Given the description of an element on the screen output the (x, y) to click on. 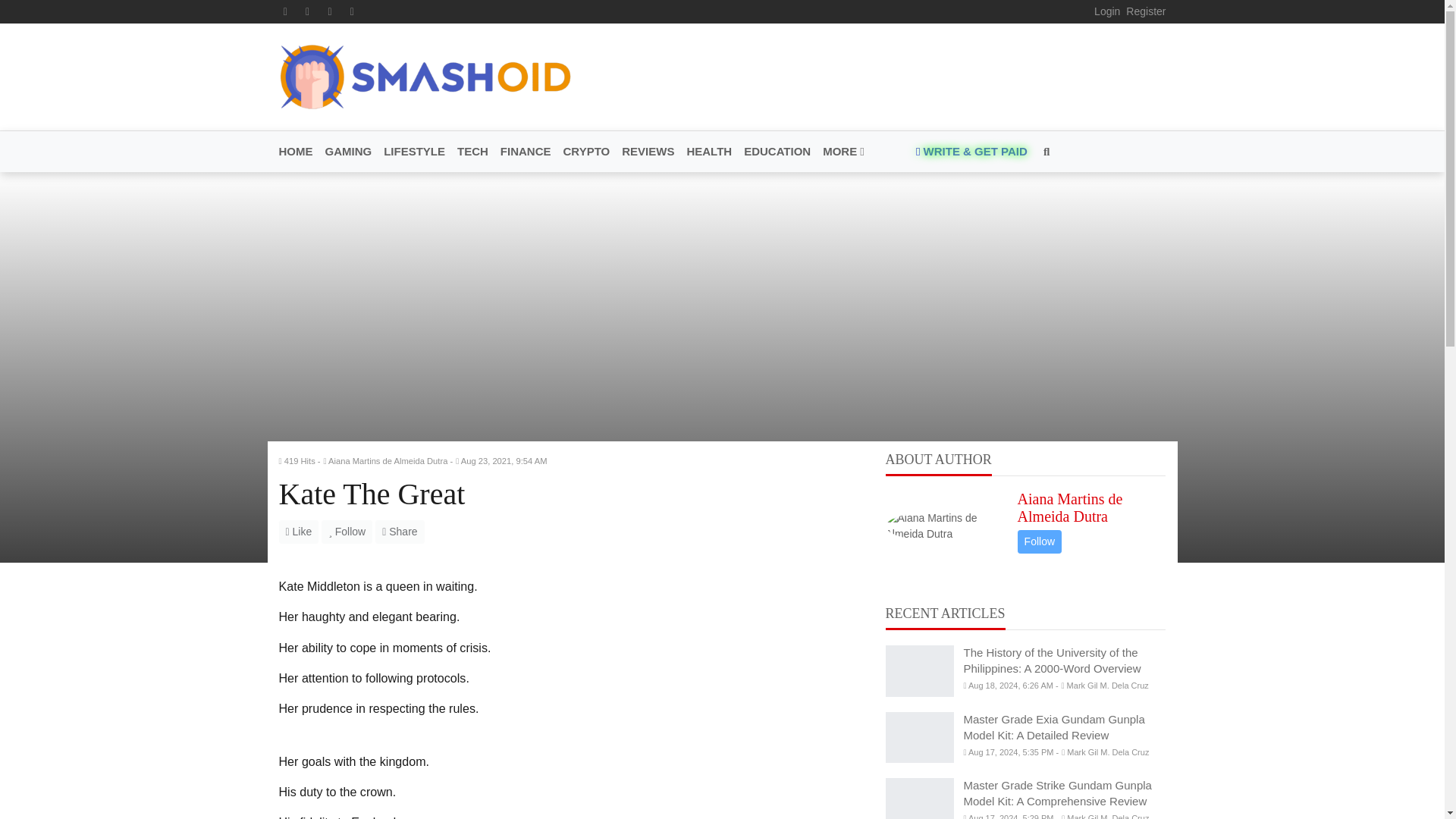
Register (1145, 10)
HOME (298, 152)
REVIEWS (647, 152)
Author (387, 461)
Published on (503, 461)
TECH (473, 152)
MORE (840, 152)
Views (299, 461)
Twitter (307, 11)
Login (1106, 10)
